Given the description of an element on the screen output the (x, y) to click on. 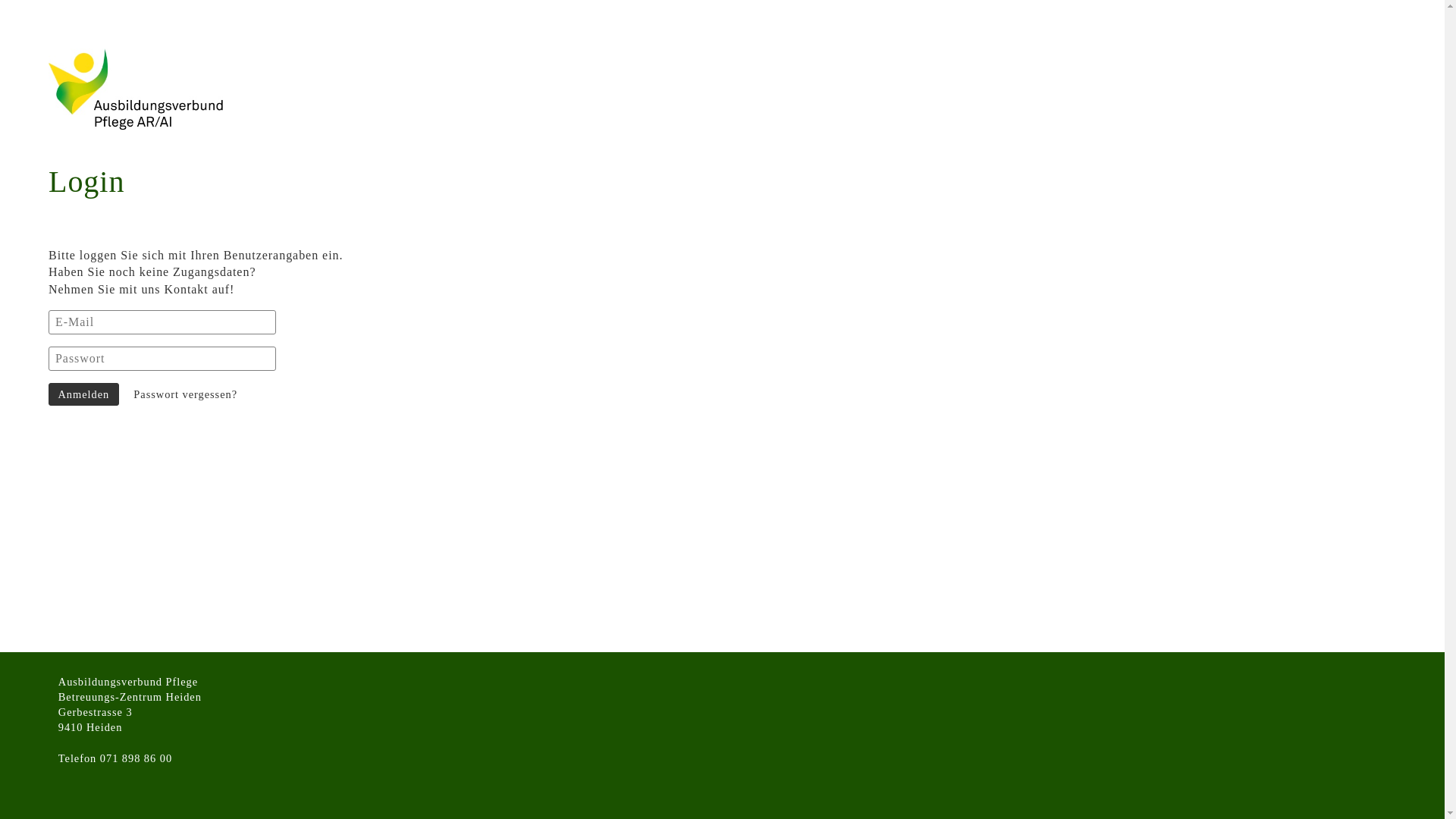
Anmelden Element type: text (83, 393)
Passwort vergessen? Element type: text (185, 393)
Telefon 071 898 86 00 Element type: text (115, 758)
